Given the description of an element on the screen output the (x, y) to click on. 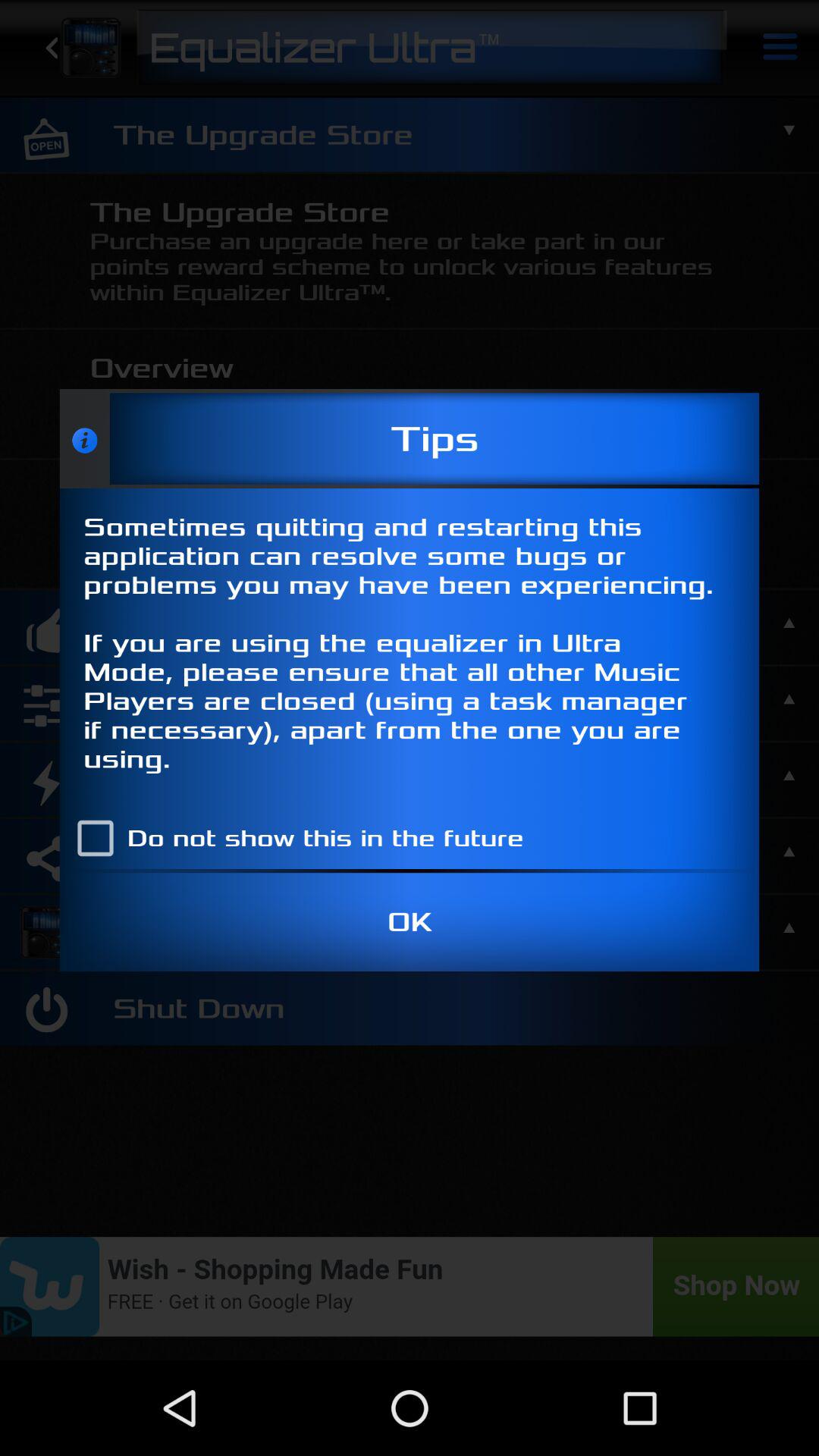
launch the ok icon (409, 922)
